Given the description of an element on the screen output the (x, y) to click on. 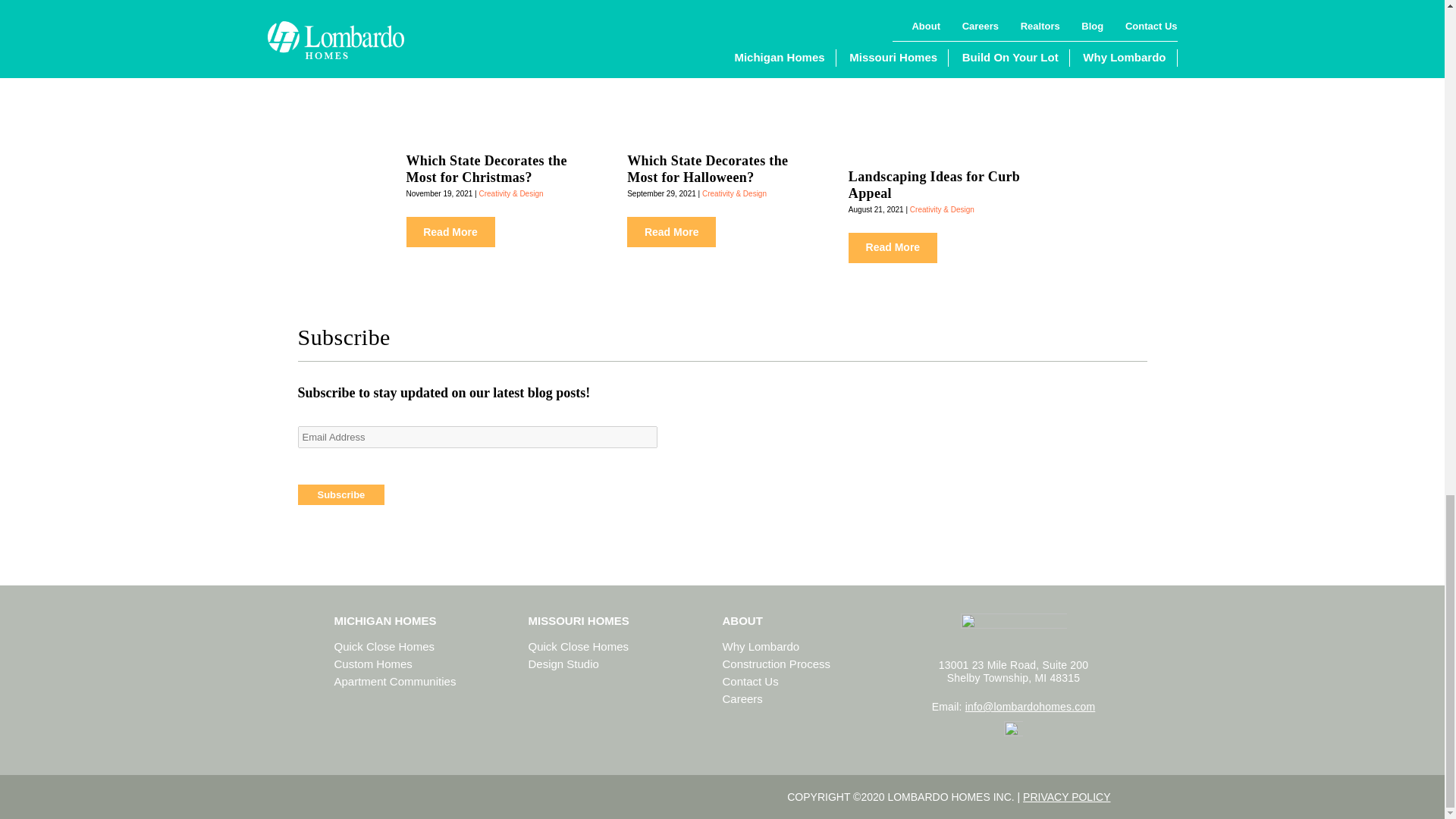
Subscribe (340, 494)
